Given the description of an element on the screen output the (x, y) to click on. 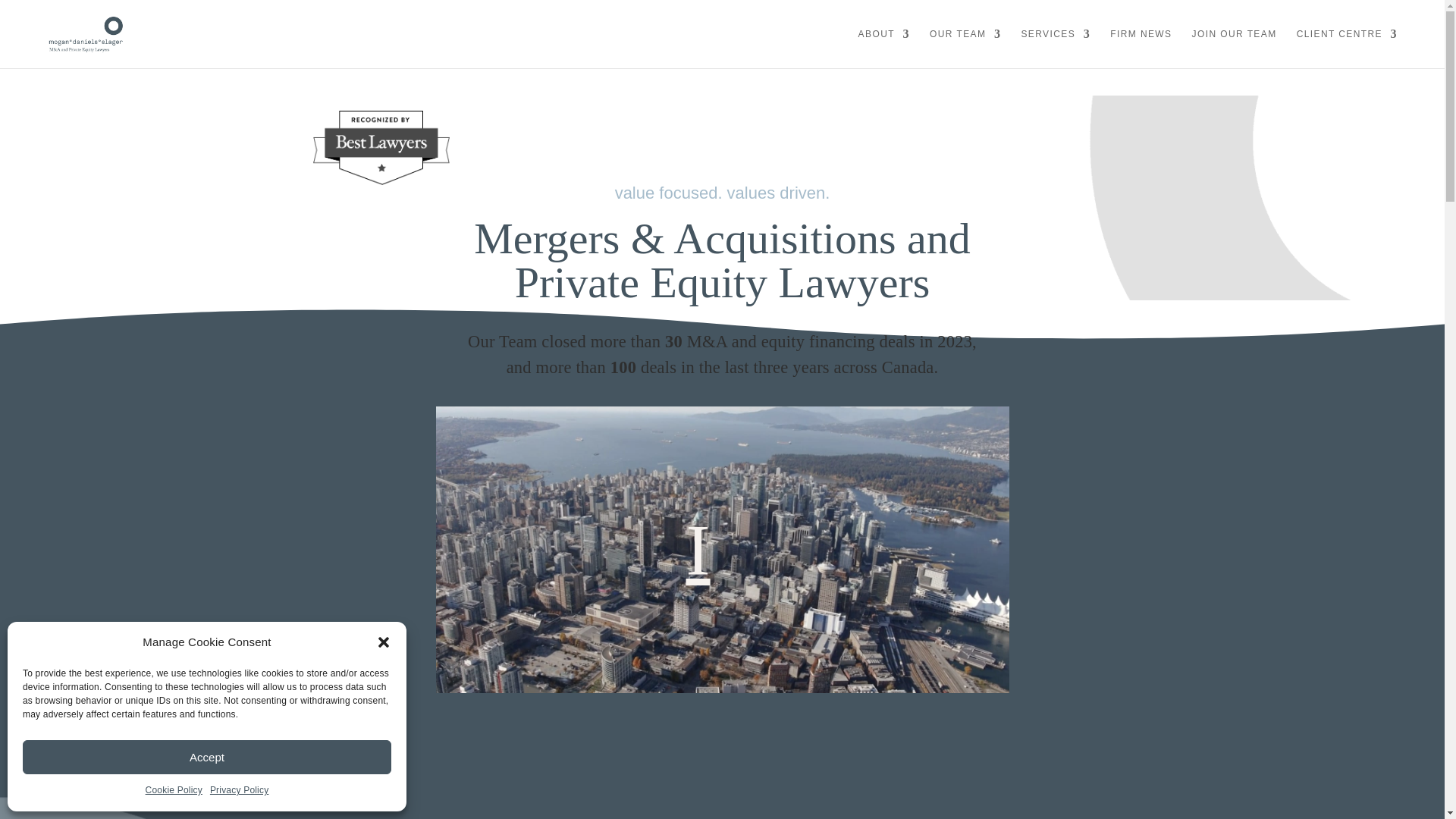
Privacy Policy (238, 791)
OUR TEAM (965, 46)
BL-LargeBadge-v3 (380, 147)
JOIN OUR TEAM (1234, 46)
Cookie Policy (173, 791)
ABOUT (884, 46)
SERVICES (1055, 46)
FIRM NEWS (1140, 46)
Accept (207, 756)
CLIENT CENTRE (1347, 46)
